Given the description of an element on the screen output the (x, y) to click on. 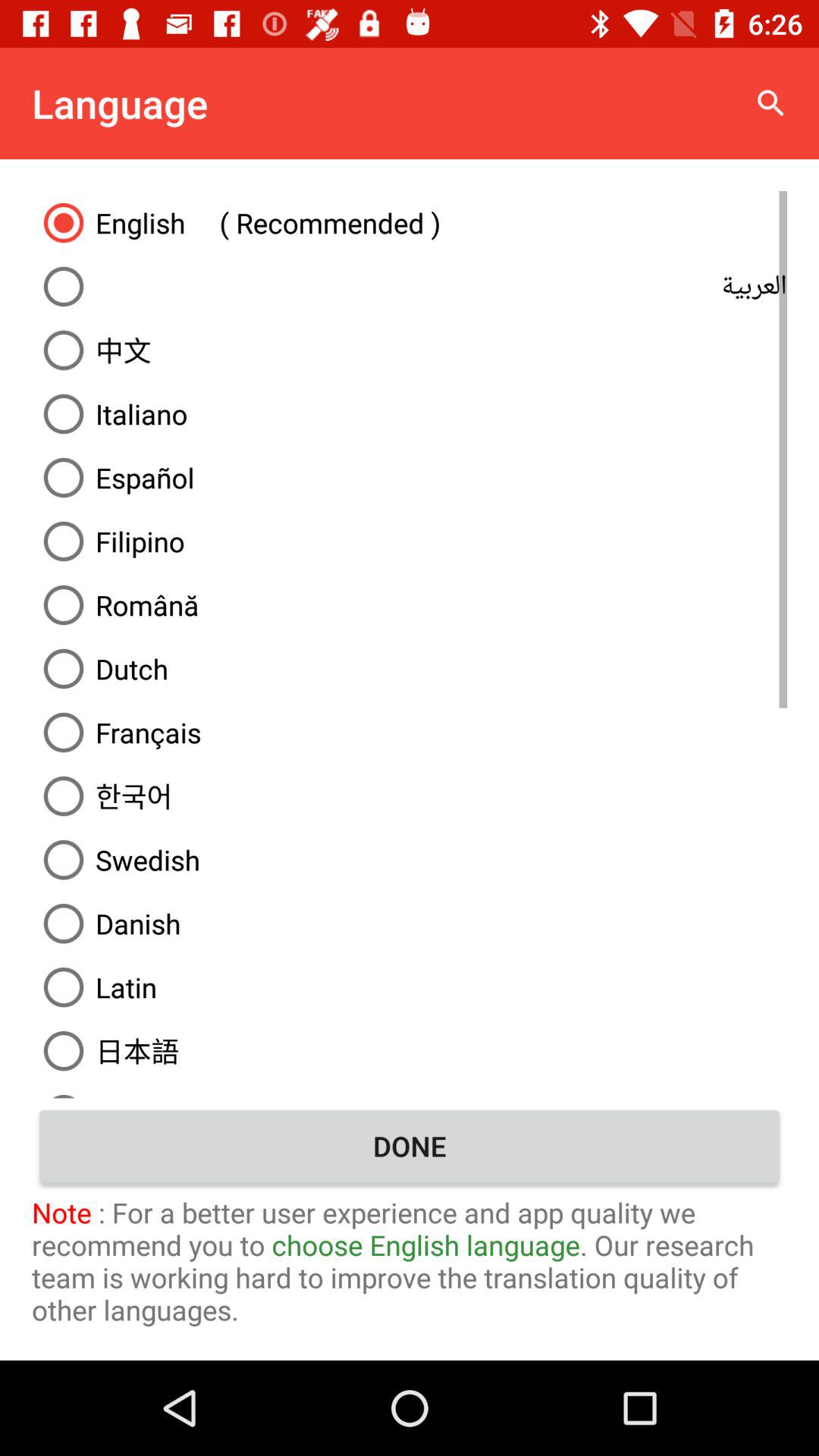
select dutch icon (409, 668)
